Given the description of an element on the screen output the (x, y) to click on. 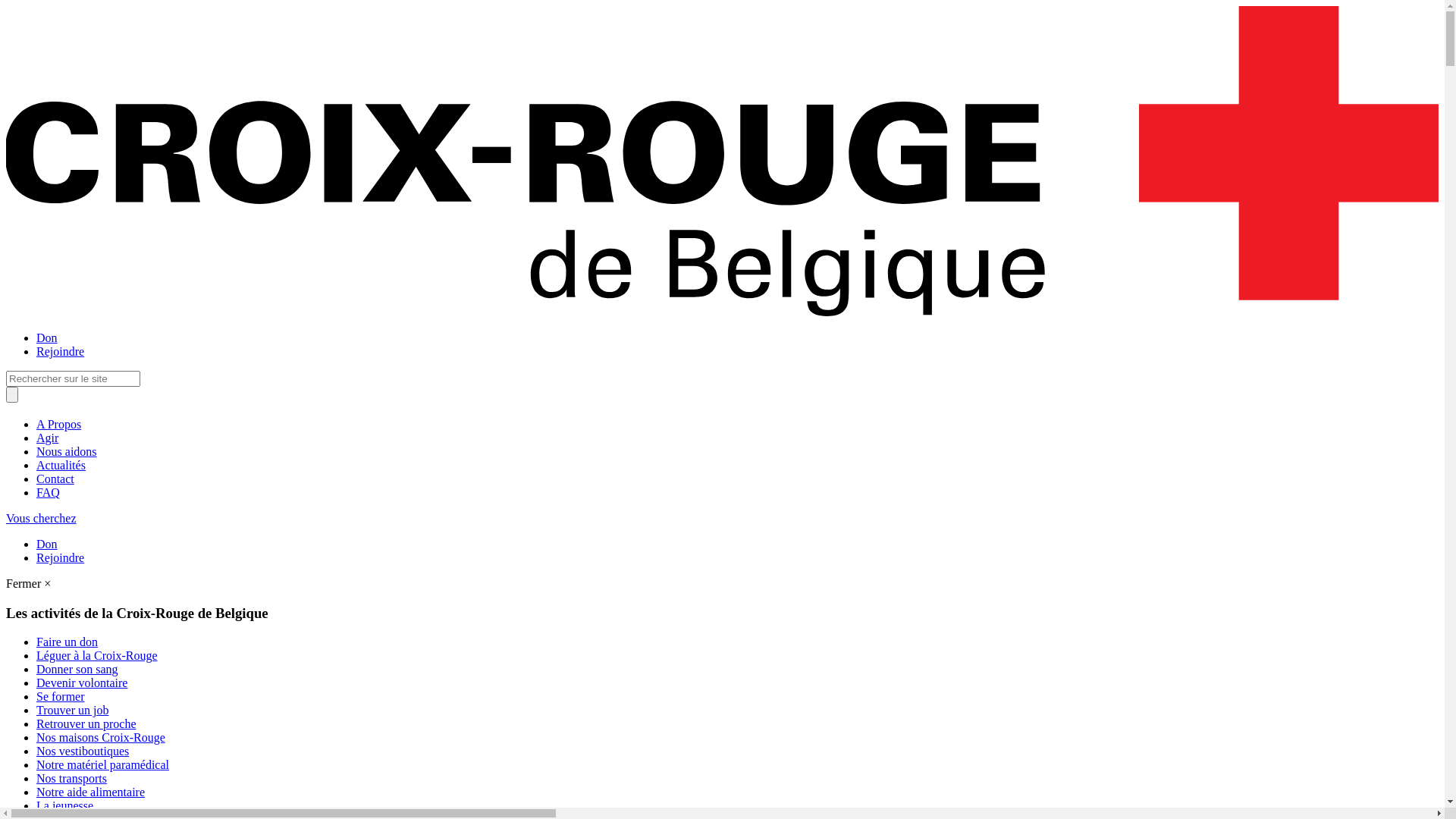
Se former Element type: text (60, 696)
Contact Element type: text (55, 478)
Donner son sang Element type: text (77, 668)
Rejoindre Element type: text (60, 557)
La jeunesse Element type: text (64, 805)
Nos vestiboutiques Element type: text (82, 750)
Nous aidons Element type: text (66, 451)
Nos transports Element type: text (71, 777)
Rejoindre Element type: text (60, 351)
Retrouver un proche Element type: text (86, 723)
Trouver un job Element type: text (72, 709)
Notre aide alimentaire Element type: text (90, 791)
Devenir volontaire Element type: text (81, 682)
FAQ Element type: text (47, 492)
Agir Element type: text (47, 437)
Don Element type: text (46, 337)
Nos maisons Croix-Rouge Element type: text (100, 737)
Faire un don Element type: text (66, 641)
Vous cherchez Element type: text (41, 517)
A Propos Element type: text (58, 423)
Don Element type: text (46, 543)
